Given the description of an element on the screen output the (x, y) to click on. 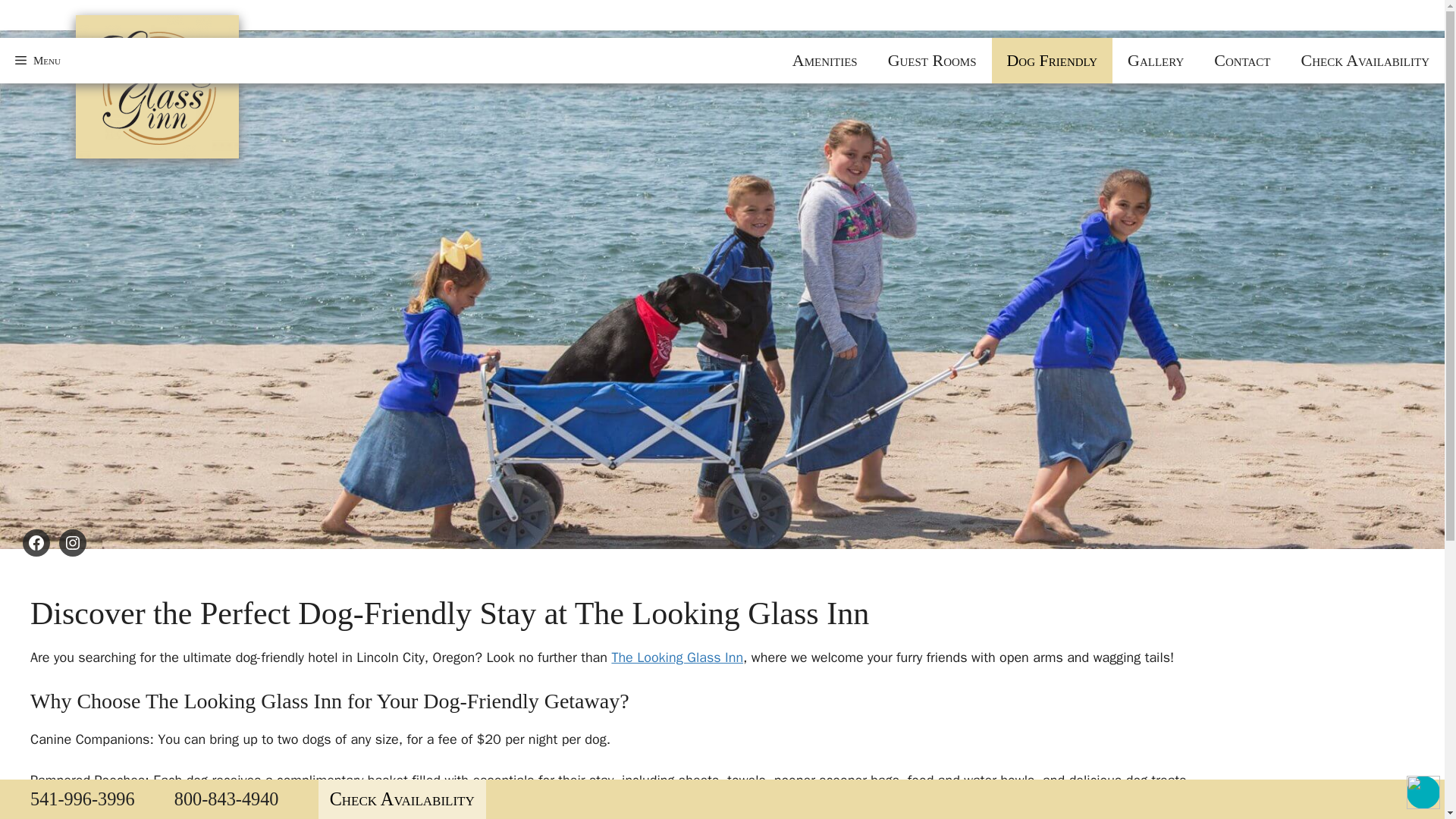
Menu (37, 60)
Guest Rooms (931, 60)
Amenities (824, 60)
Check Availability (402, 799)
Accessibility Menu (1422, 792)
Instagram (72, 542)
Contact (1241, 60)
Gallery (1155, 60)
Facebook (36, 542)
Dog Friendly (1052, 60)
